Given the description of an element on the screen output the (x, y) to click on. 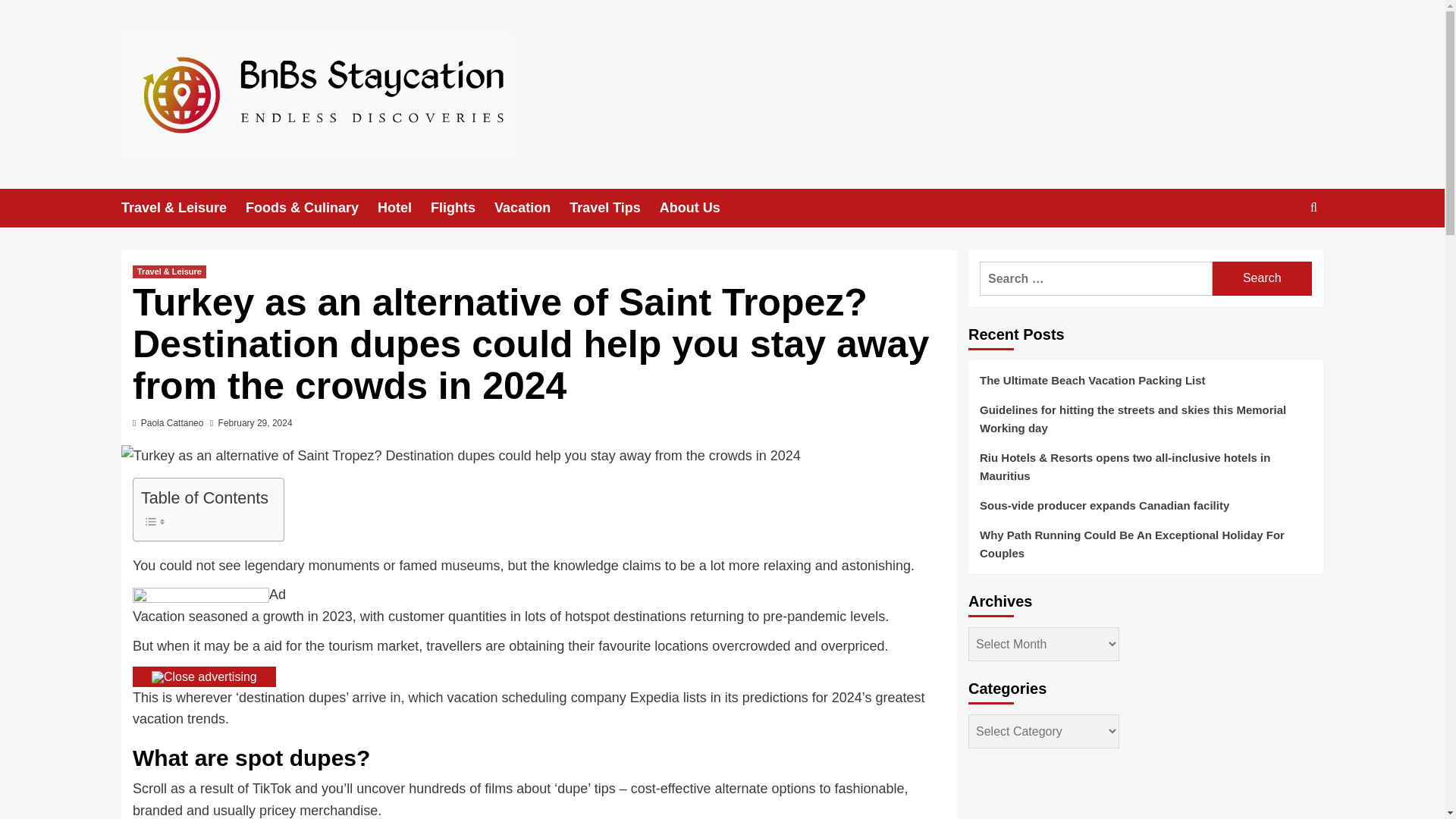
Travel Tips (614, 208)
Search (1278, 254)
Search (1261, 278)
February 29, 2024 (255, 422)
Search (1261, 278)
Vacation (532, 208)
Paola Cattaneo (172, 422)
Flights (462, 208)
Hotel (403, 208)
About Us (699, 208)
